Given the description of an element on the screen output the (x, y) to click on. 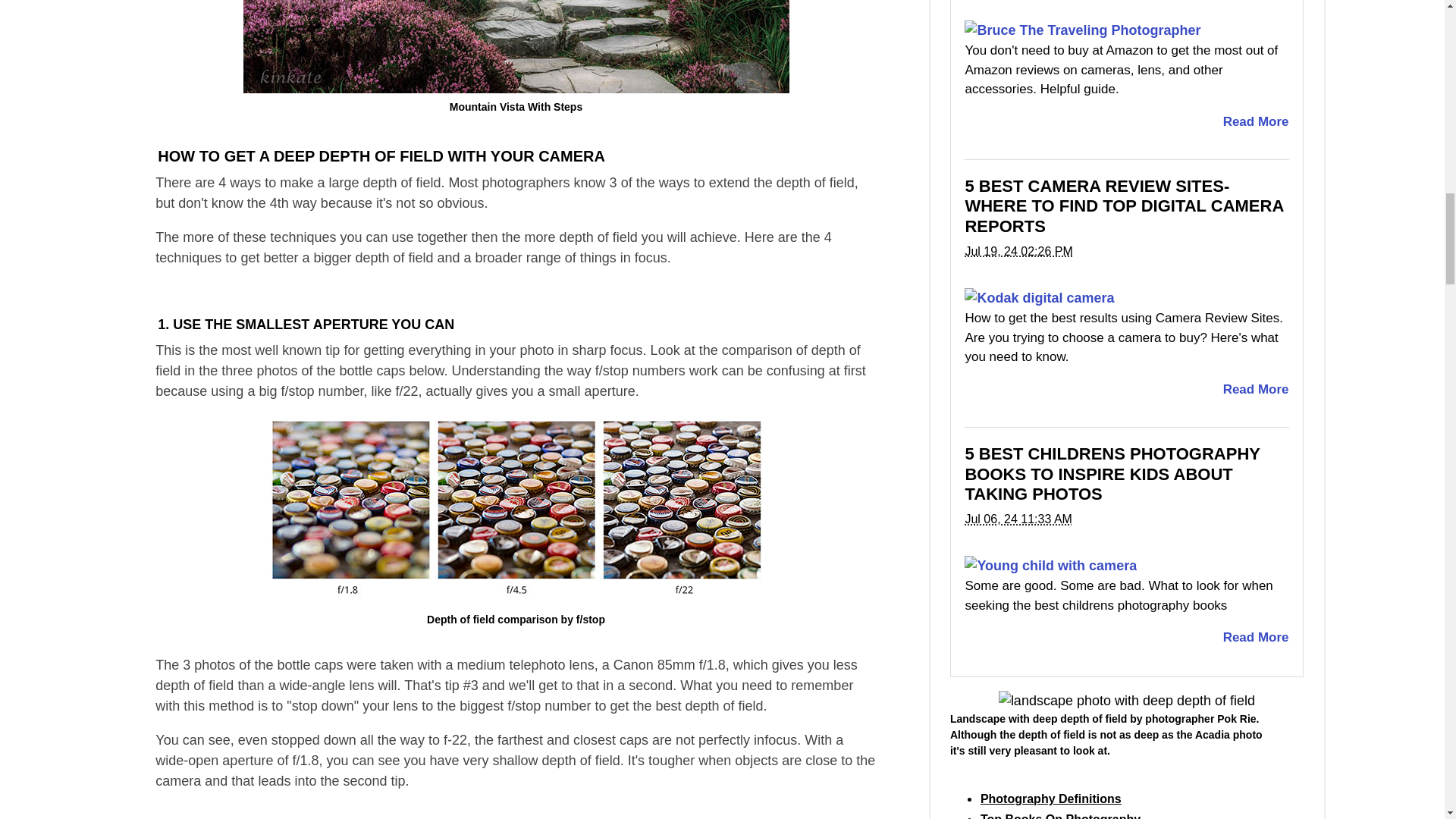
2024-07-19T14:26:52-0400 (1017, 250)
2024-07-06T11:33:04-0400 (1017, 518)
Comparison of Shallow and Deep Depth of Field (515, 510)
